Given the description of an element on the screen output the (x, y) to click on. 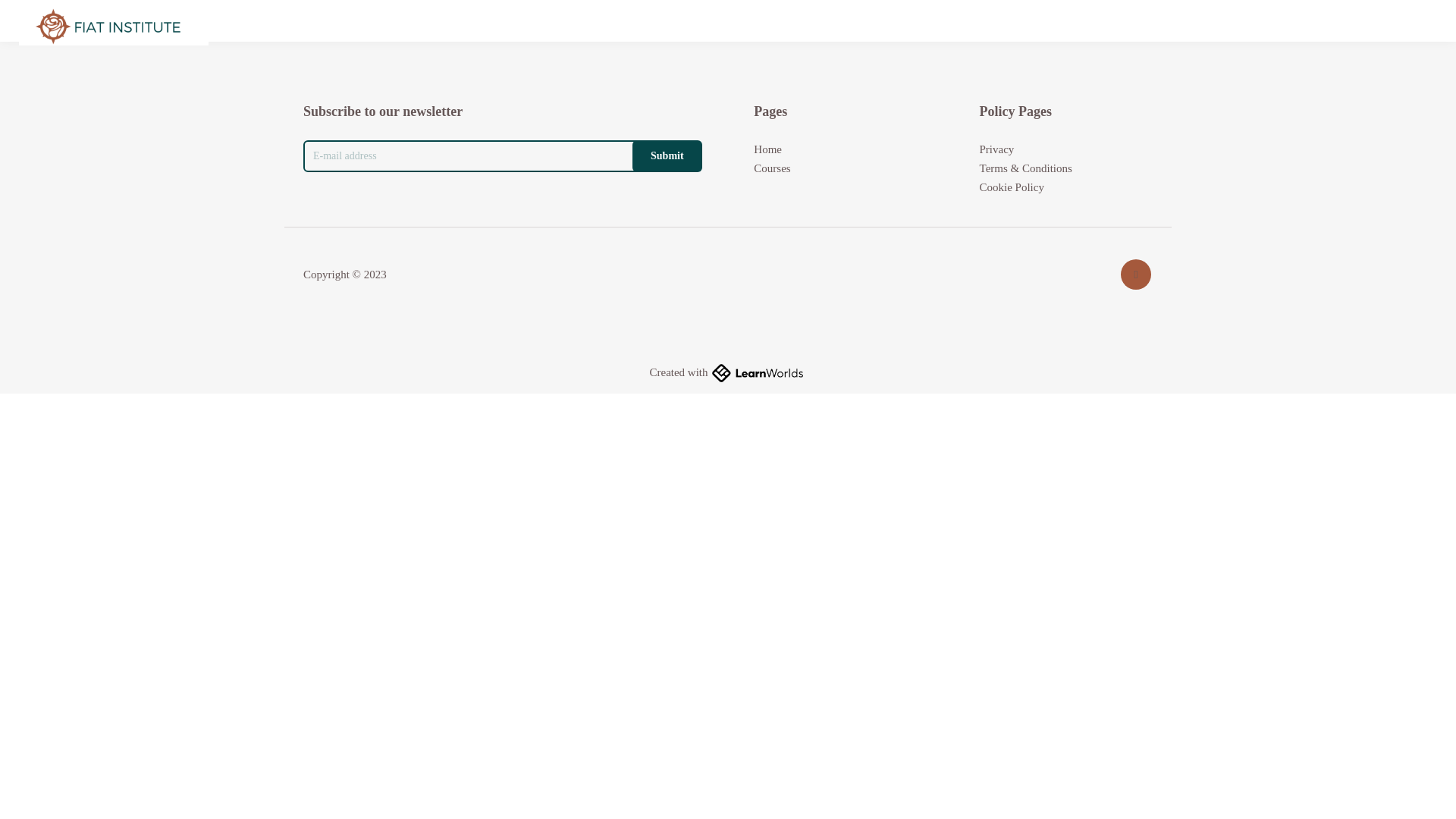
Home (767, 149)
Submit (666, 155)
Courses (772, 168)
Privacy (996, 149)
Cookie Policy (1011, 187)
